Given the description of an element on the screen output the (x, y) to click on. 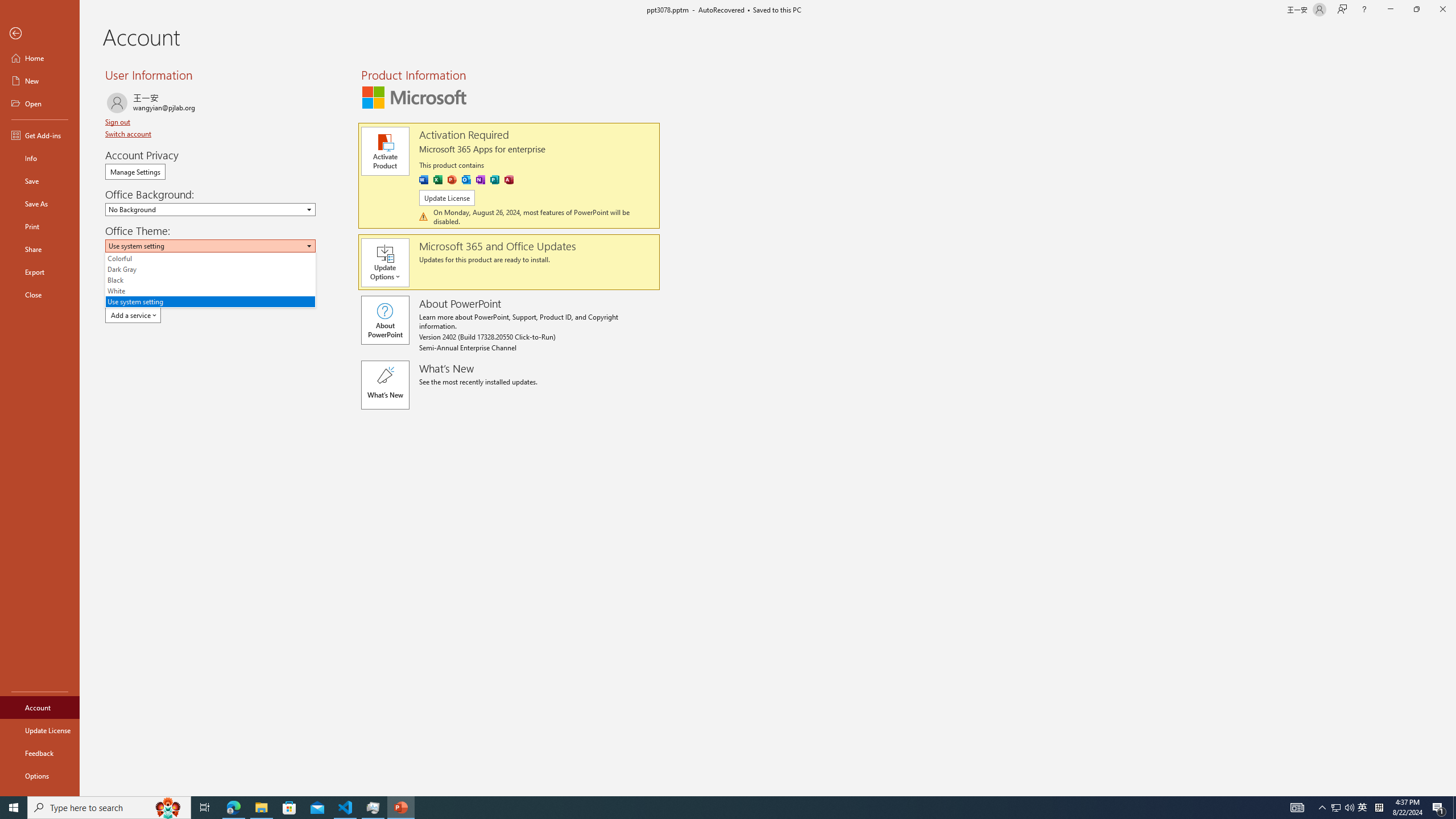
User Promoted Notification Area (1342, 807)
Task View (204, 807)
Excel (437, 179)
Microsoft Edge - 1 running window (233, 807)
Q2790: 100% (1349, 807)
File Explorer - 1 running window (261, 807)
About PowerPoint (385, 319)
Type here to search (108, 807)
PowerPoint (451, 179)
Office Theme: (209, 279)
Update Options (390, 262)
